Given the description of an element on the screen output the (x, y) to click on. 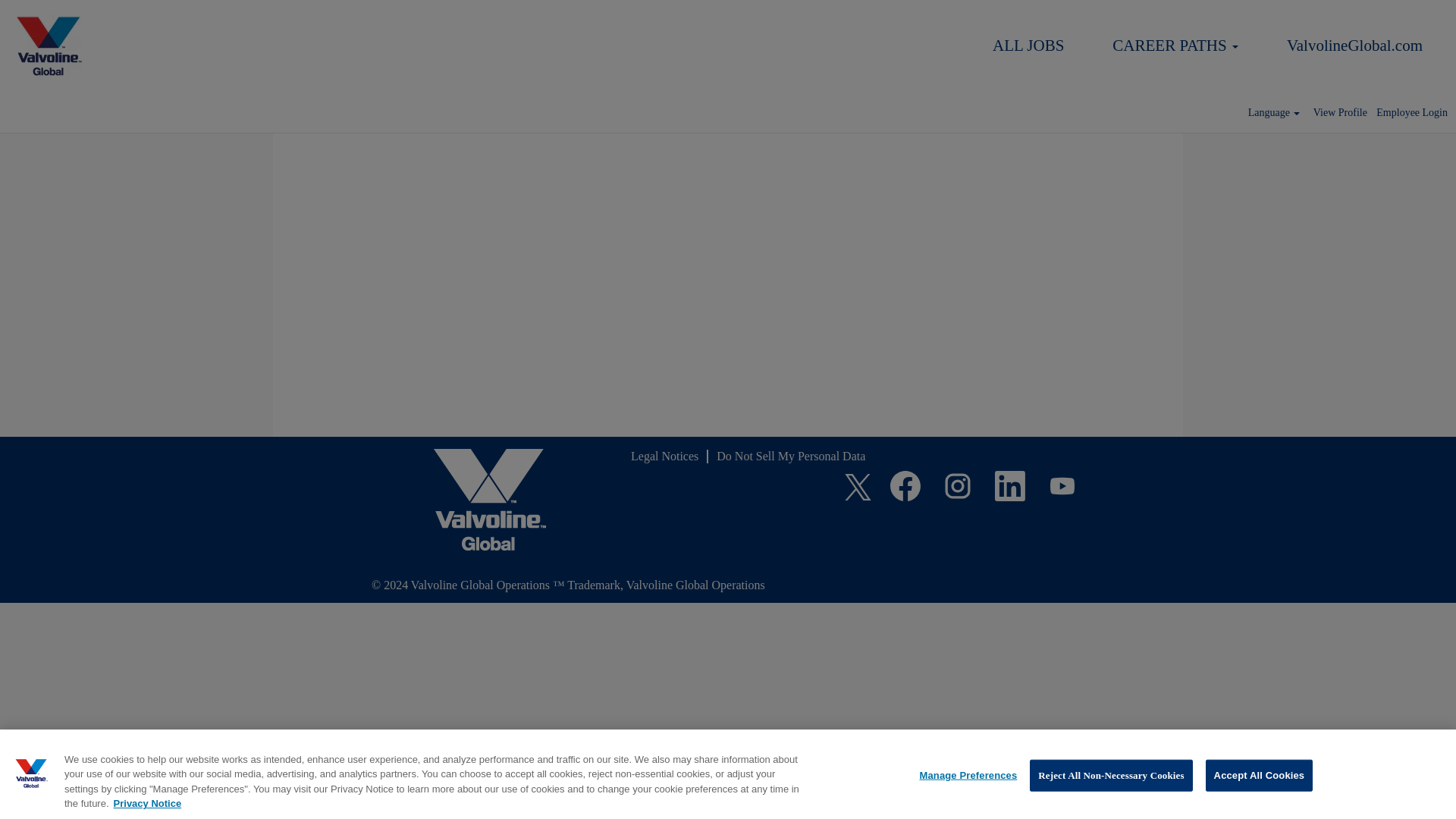
ALL JOBS (1027, 46)
CAREER PATHS (1175, 46)
Valvoline Global Operations Logo (48, 46)
ALL JOBS (1027, 46)
CAREER PATHS (1175, 46)
